Given the description of an element on the screen output the (x, y) to click on. 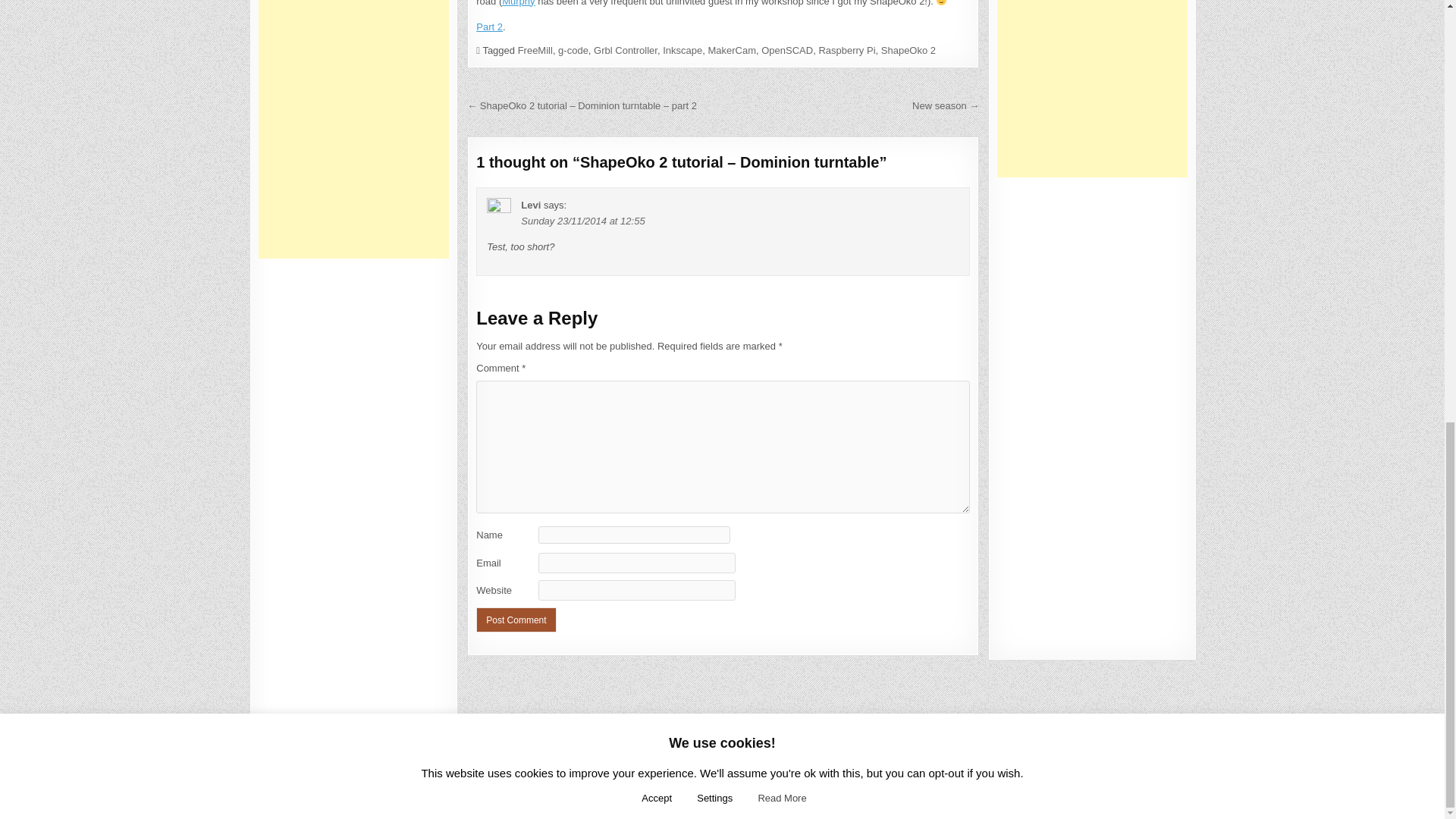
Post Comment (516, 619)
